Given the description of an element on the screen output the (x, y) to click on. 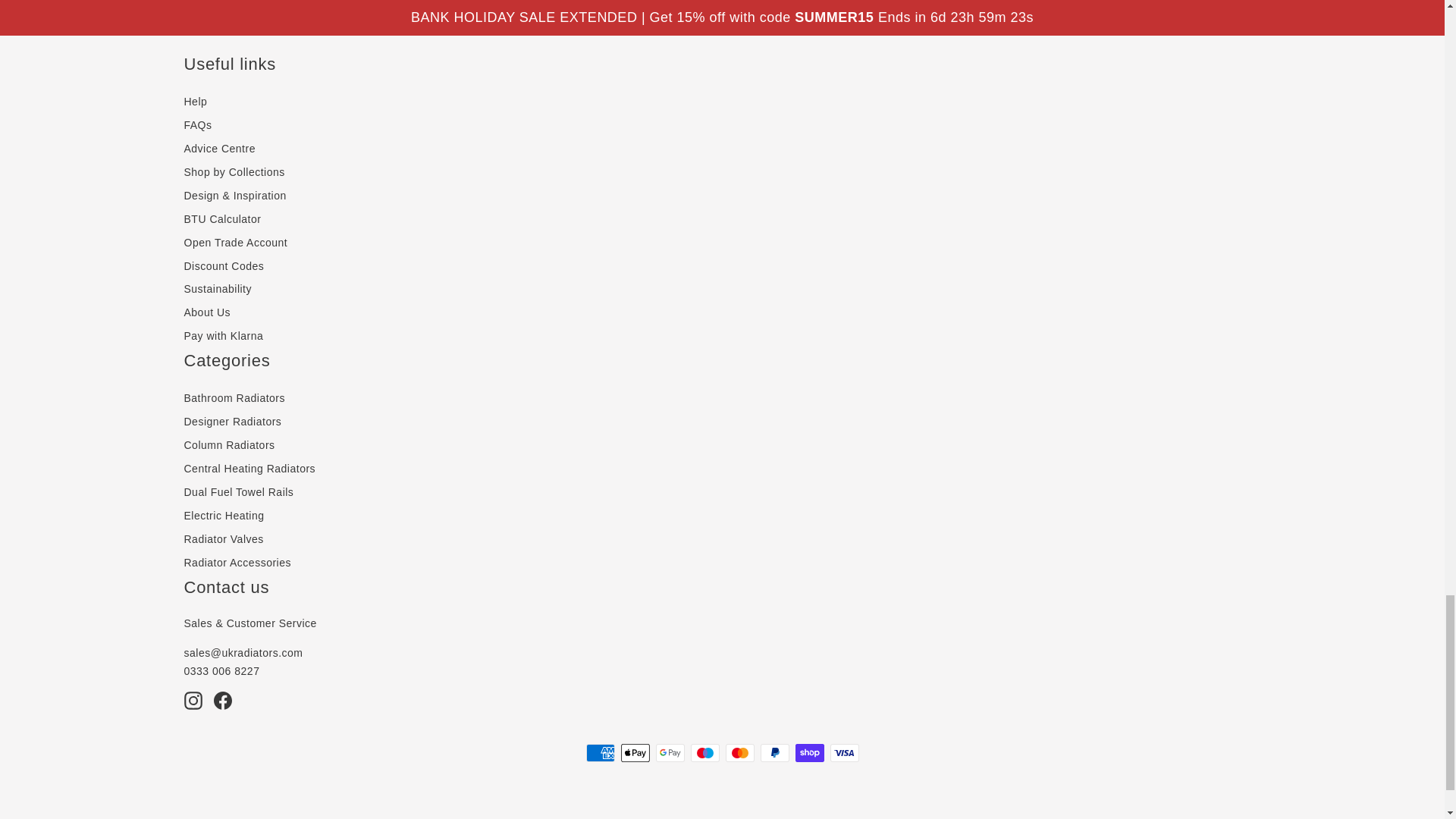
Visa (844, 752)
instagram (192, 700)
Google Pay (669, 752)
Shop Pay (809, 752)
Apple Pay (634, 752)
PayPal (774, 752)
Maestro (704, 752)
UK Radiators on Facebook (222, 700)
American Express (599, 752)
tel:03330068227 (221, 671)
